Given the description of an element on the screen output the (x, y) to click on. 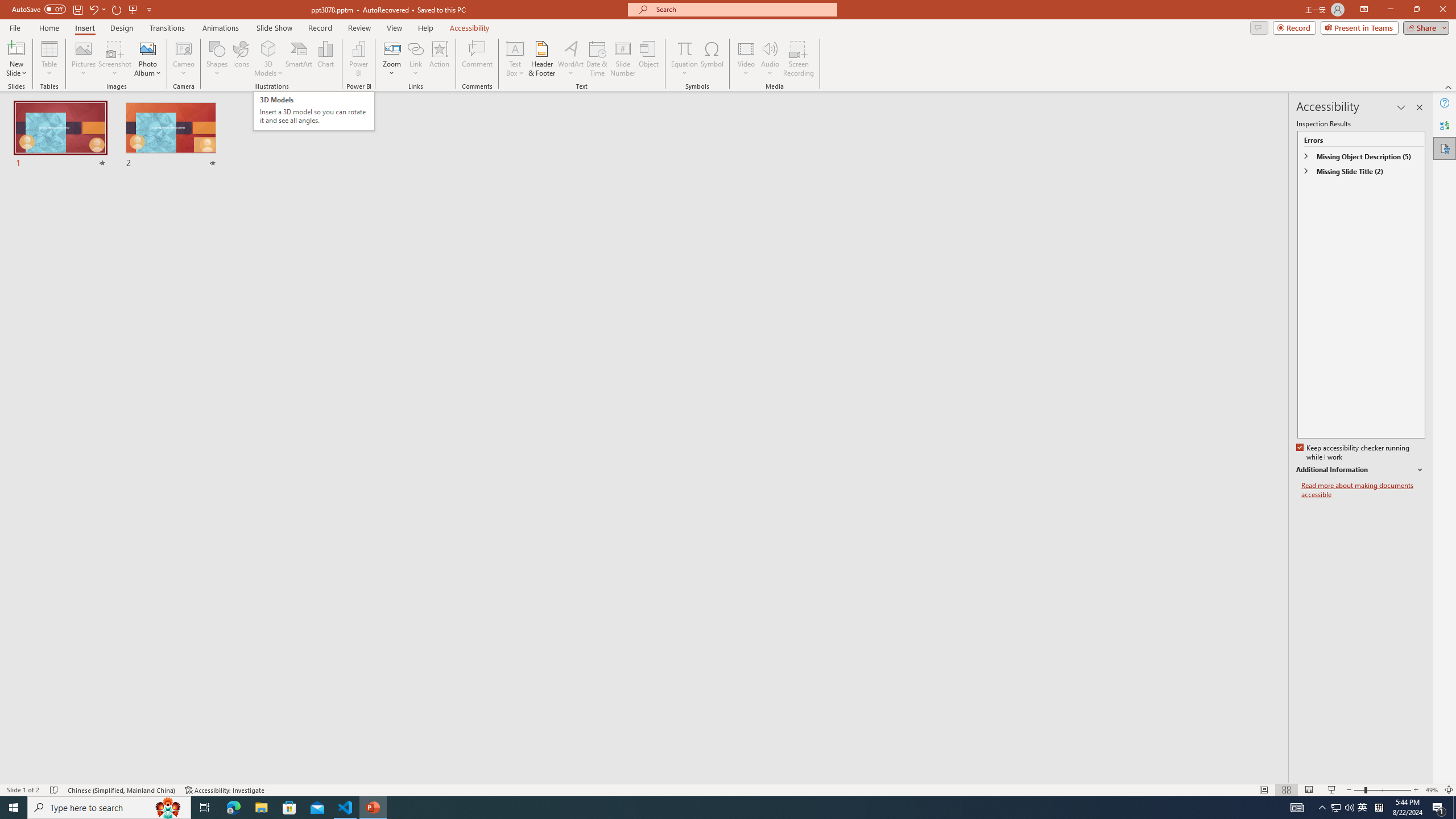
Slide Number (622, 58)
Pictures (83, 58)
Zoom 49% (1431, 790)
Draw Horizontal Text Box (515, 48)
